Given the description of an element on the screen output the (x, y) to click on. 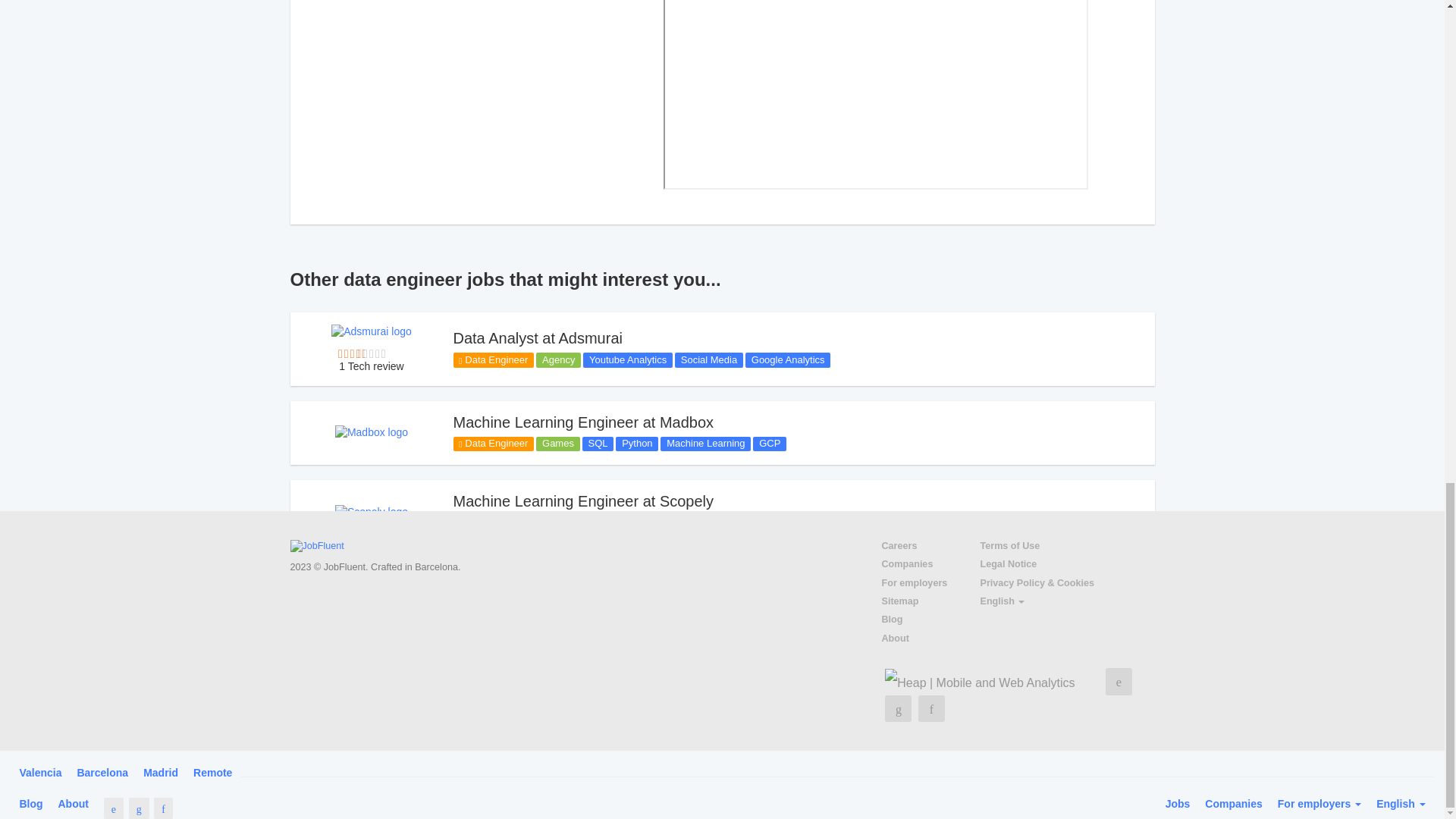
Browse Social Media (708, 359)
View Adsmurai company details and its job offerings (371, 330)
Browse Data Engineer jobs (493, 359)
Browse Agency Industry jobs (557, 359)
Browse Google Analytics (787, 359)
Browse Youtube Analytics (627, 359)
